Given the description of an element on the screen output the (x, y) to click on. 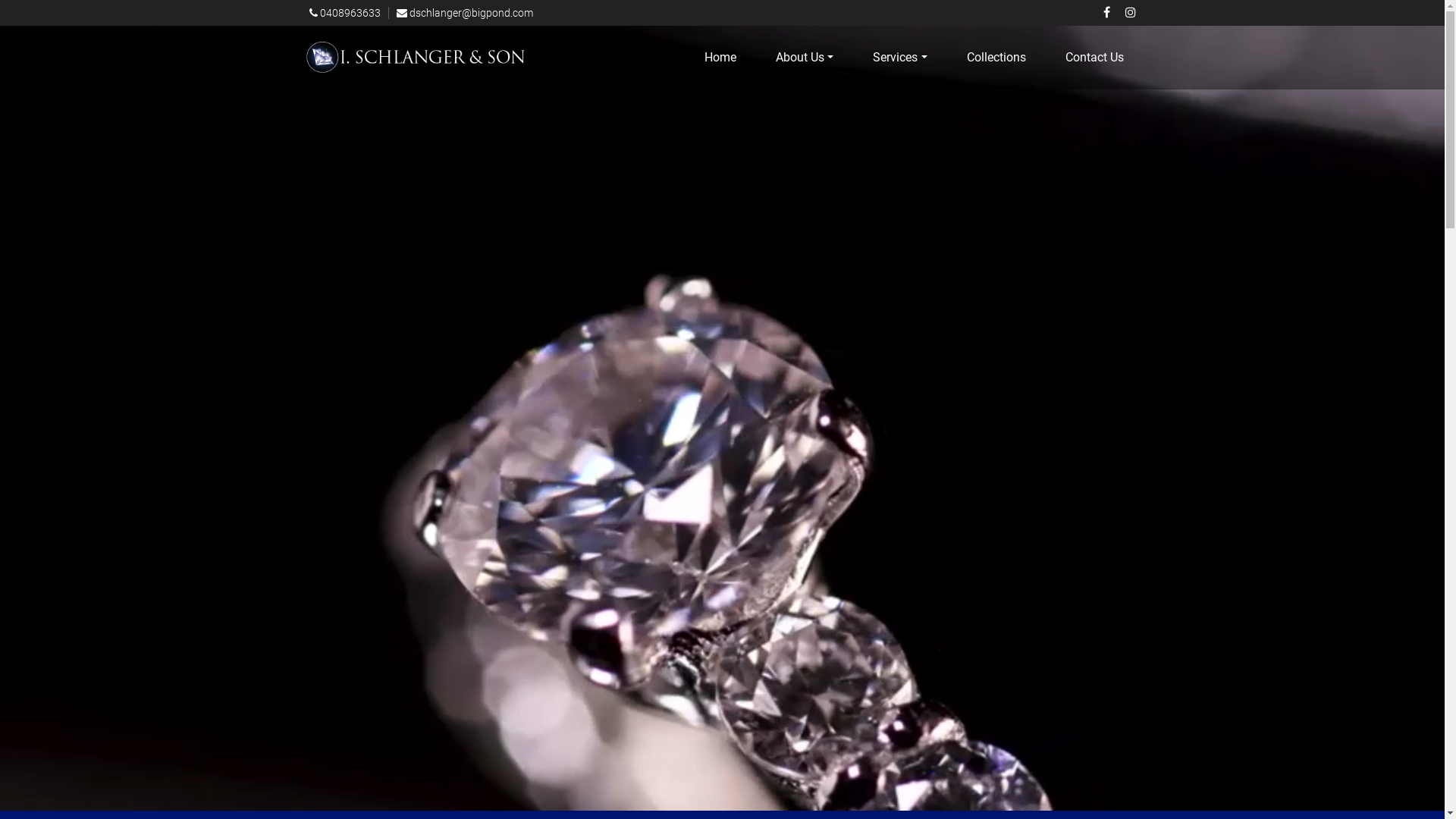
dschlanger@bigpond.com Element type: text (463, 12)
0408963633 Element type: text (345, 12)
Home Element type: text (720, 57)
About Us Element type: text (804, 57)
Collections Element type: text (995, 57)
Contact Us Element type: text (1093, 57)
Services Element type: text (899, 57)
